Given the description of an element on the screen output the (x, y) to click on. 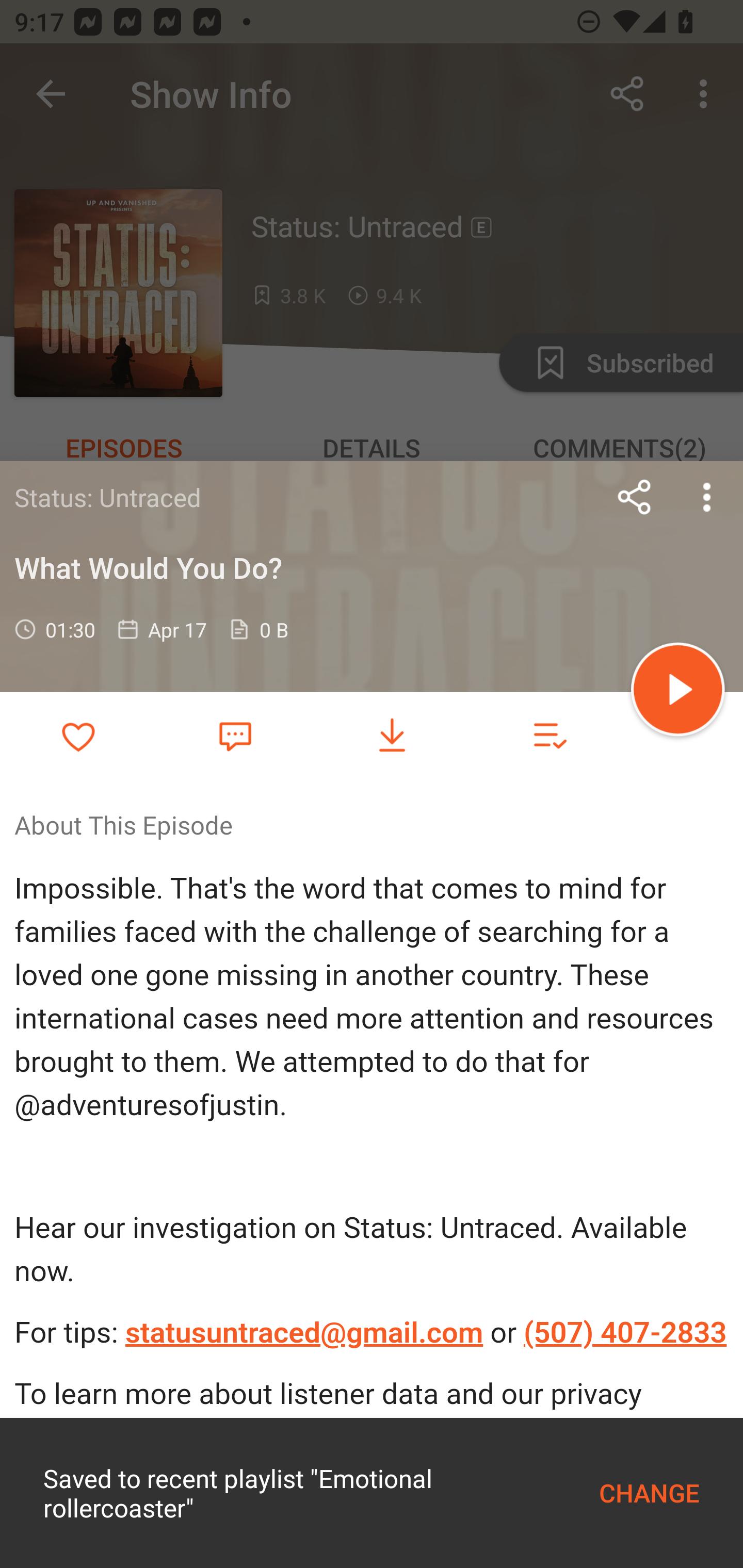
Share (634, 496)
more options (706, 496)
Play (677, 692)
Favorite (234, 735)
Add to Favorites (78, 735)
Download (391, 735)
Add to playlist (548, 735)
statusuntraced@gmail.com (303, 1332)
(507) 407-2833 (625, 1332)
CHANGE (648, 1492)
